Given the description of an element on the screen output the (x, y) to click on. 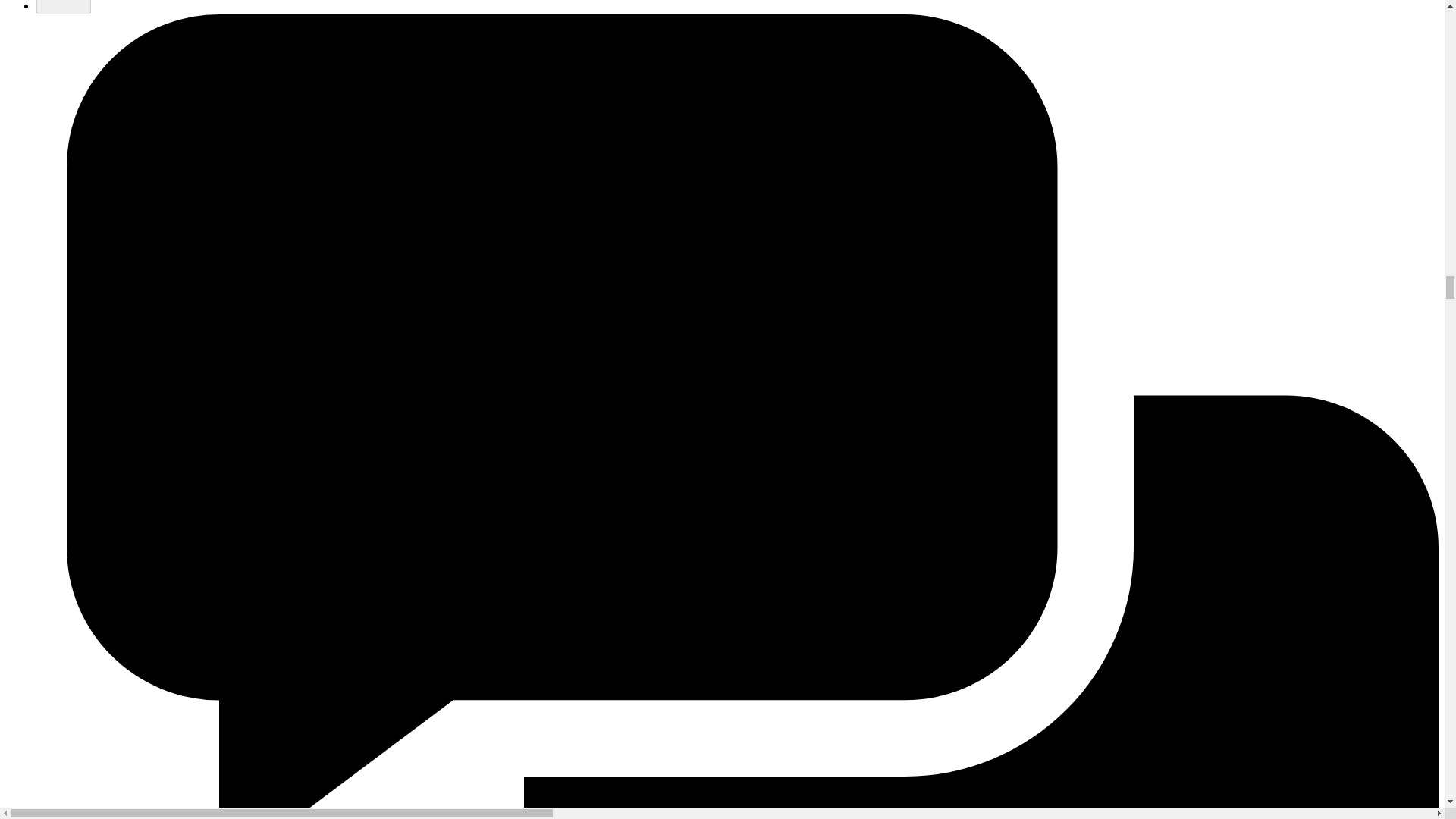
Features (63, 6)
